Given the description of an element on the screen output the (x, y) to click on. 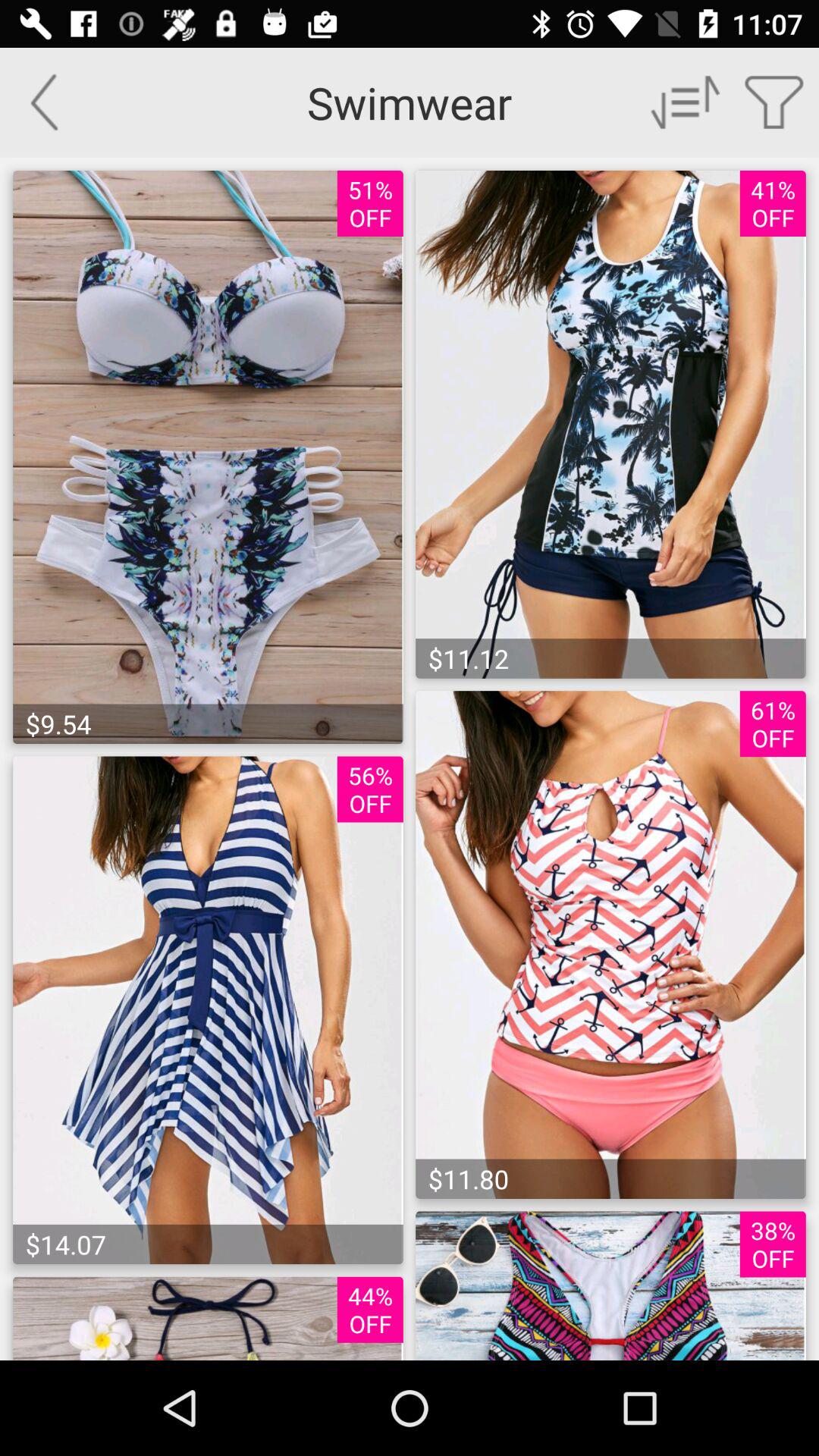
open search filters (774, 102)
